Given the description of an element on the screen output the (x, y) to click on. 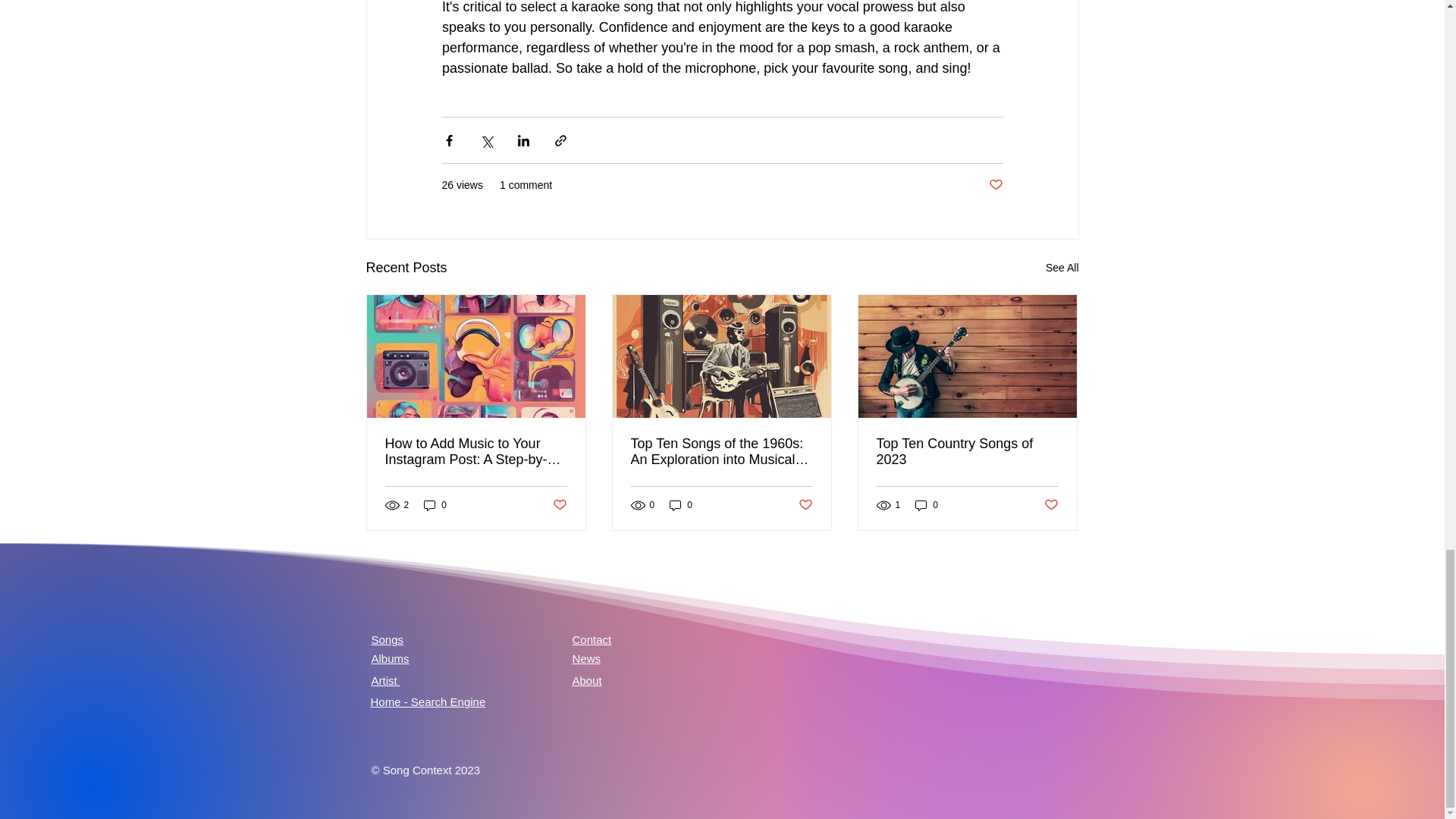
See All (1061, 268)
Home - Search Engine (426, 701)
Post not marked as liked (995, 185)
Post not marked as liked (1050, 505)
About (586, 680)
Albums (390, 658)
0 (926, 504)
Post not marked as liked (558, 505)
Post not marked as liked (804, 505)
0 (681, 504)
